Given the description of an element on the screen output the (x, y) to click on. 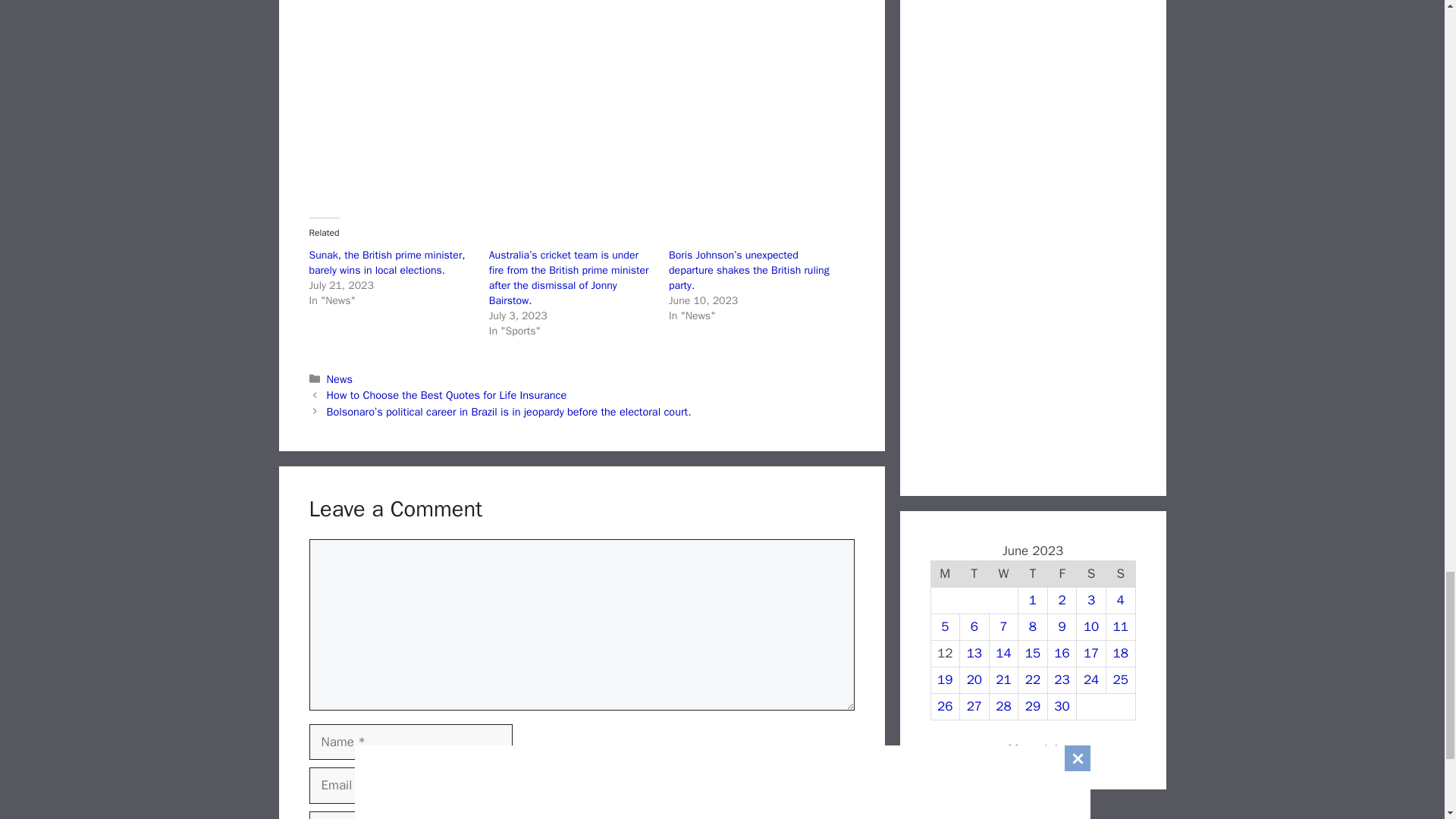
Advertisement (581, 93)
How to Choose the Best Quotes for Life Insurance (446, 395)
News (339, 377)
